Given the description of an element on the screen output the (x, y) to click on. 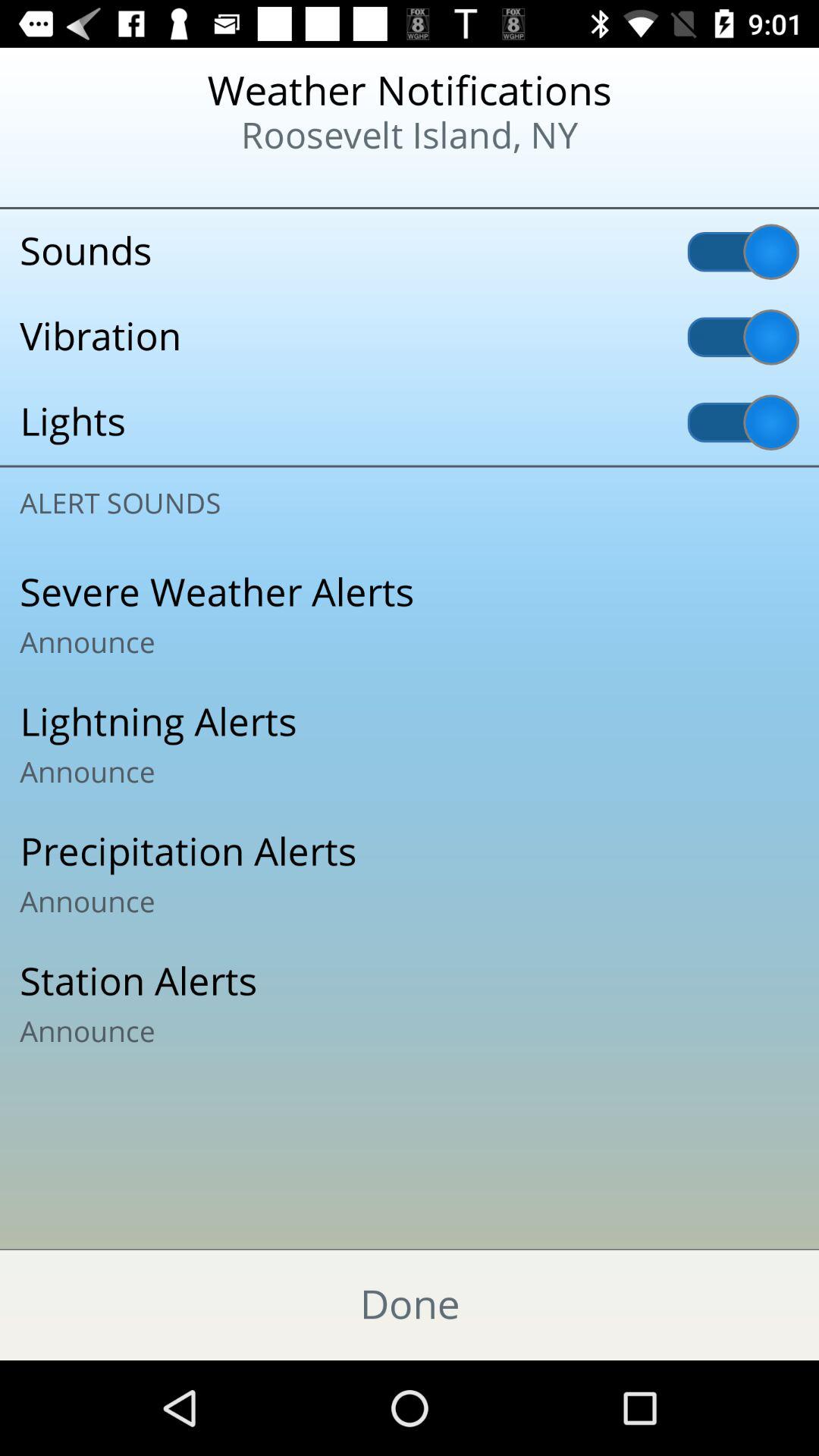
no bounding box (409, 874)
